Given the description of an element on the screen output the (x, y) to click on. 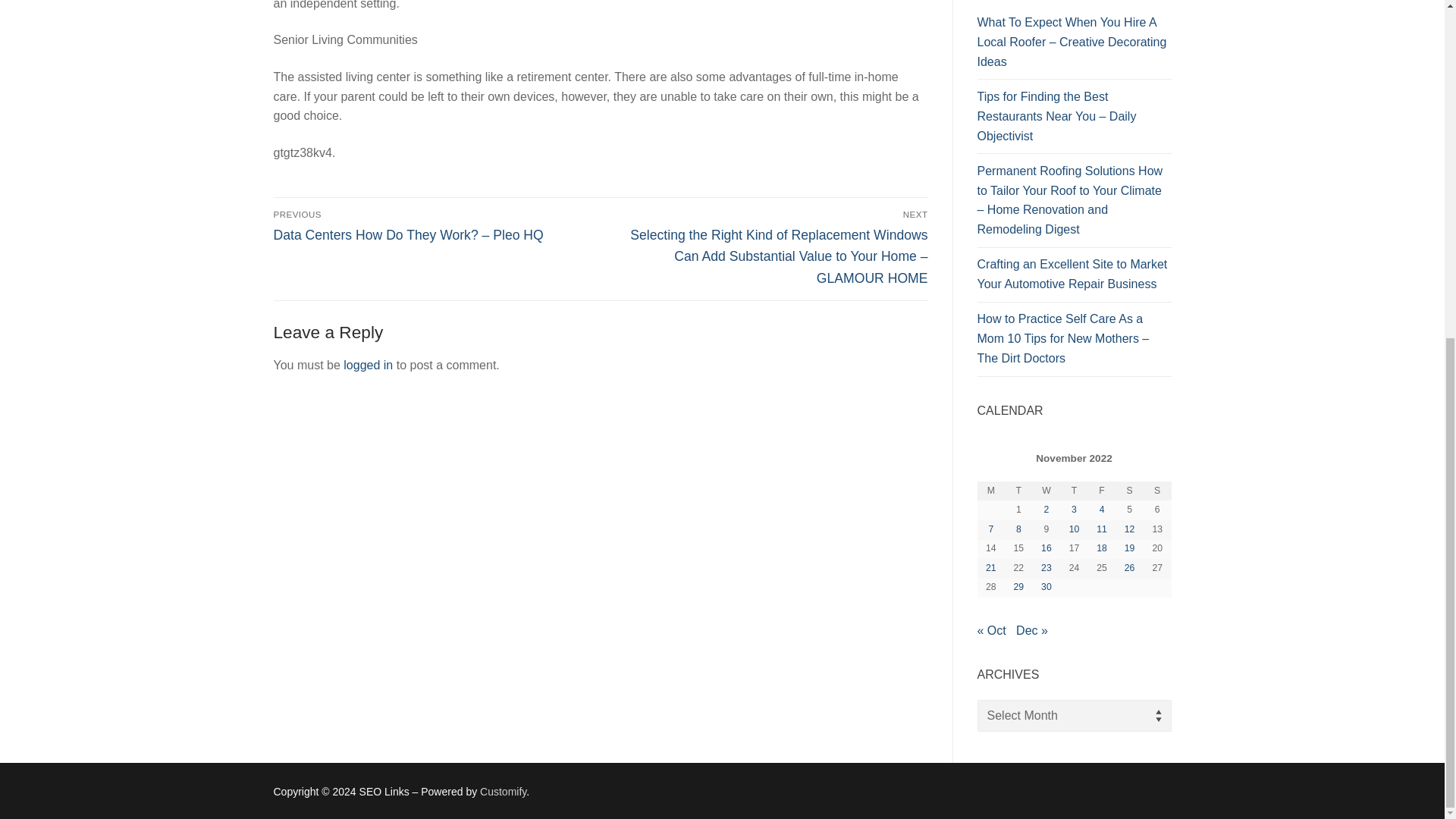
Monday (990, 491)
Wednesday (1046, 491)
Saturday (1128, 491)
logged in (368, 364)
Tuesday (1018, 491)
Friday (1101, 491)
Thursday (1073, 491)
